Given the description of an element on the screen output the (x, y) to click on. 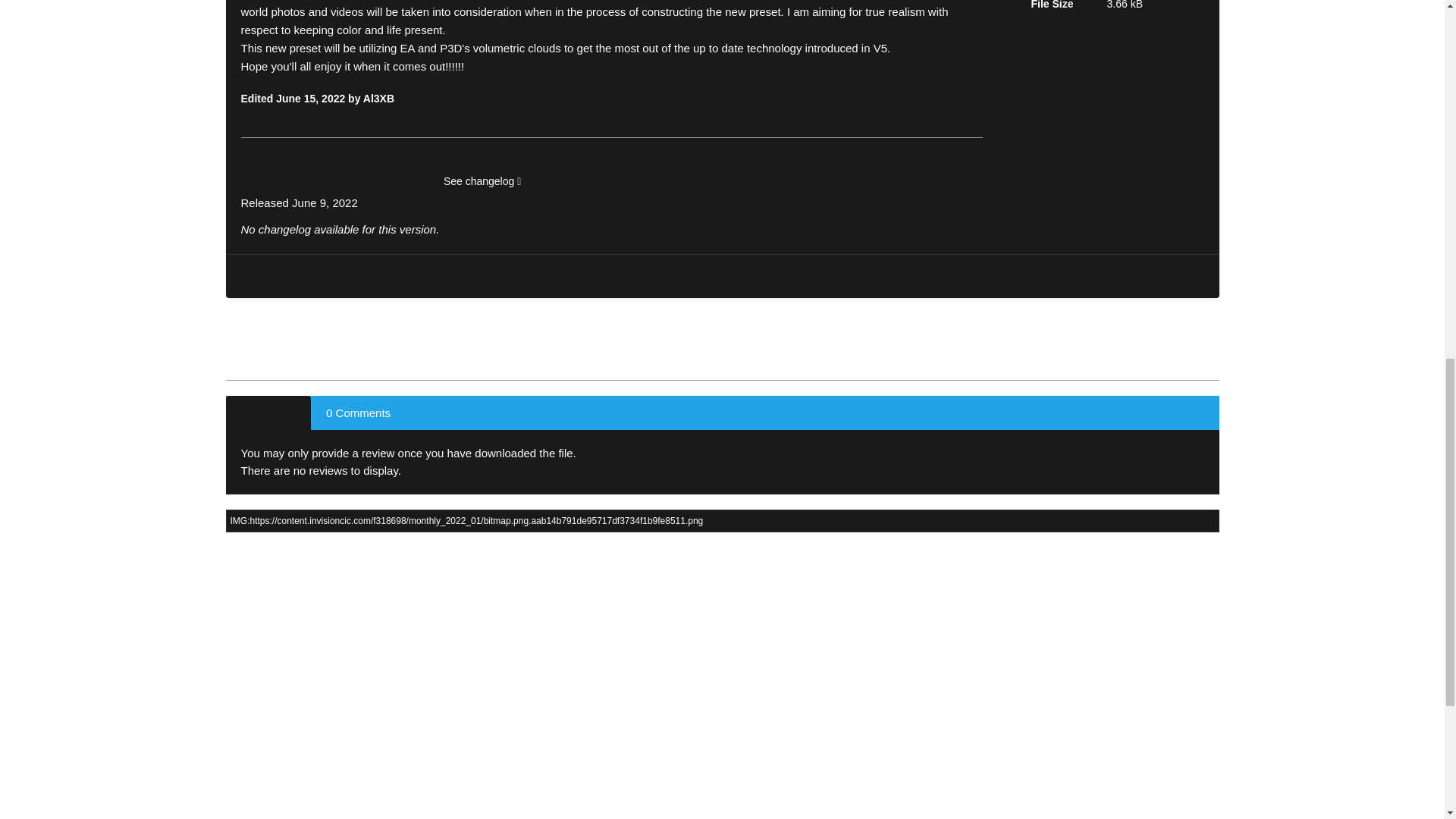
See the version history for this file (481, 181)
See changelog (481, 181)
